Given the description of an element on the screen output the (x, y) to click on. 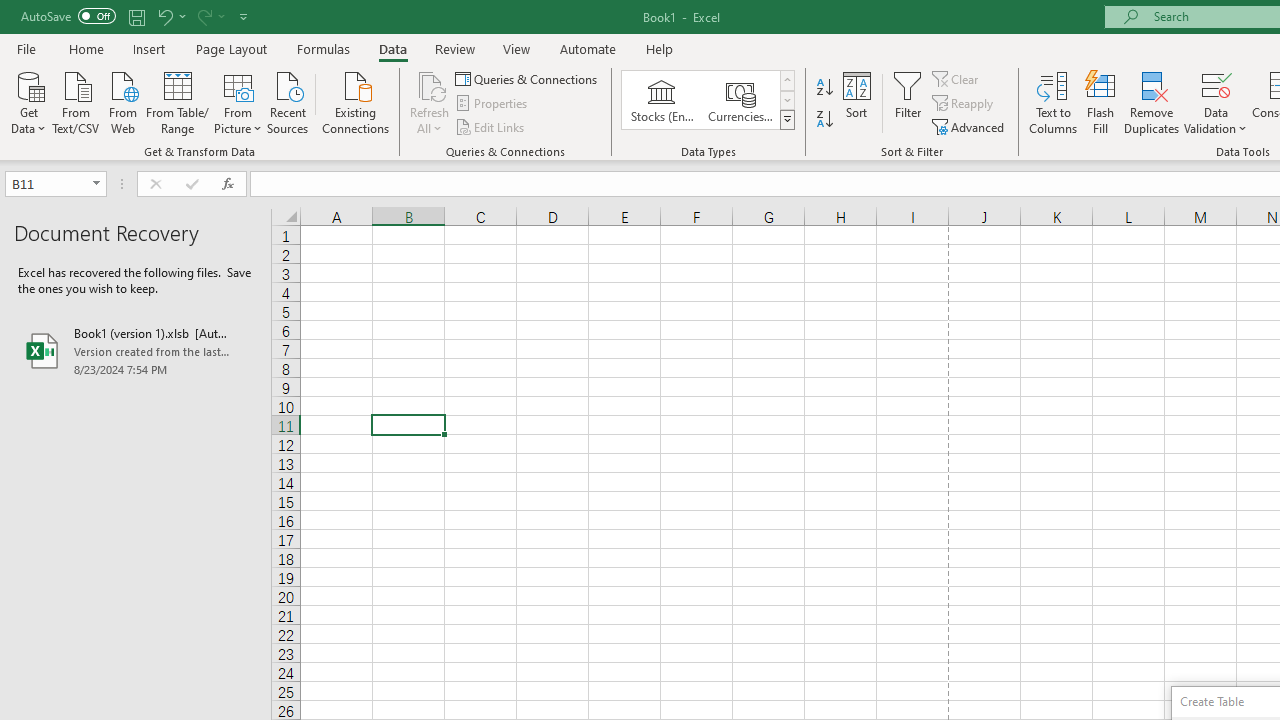
Row up (786, 79)
Sort Z to A (824, 119)
Reapply (964, 103)
Sort... (856, 102)
Advanced... (970, 126)
Text to Columns... (1053, 102)
Refresh All (429, 84)
Existing Connections (355, 101)
